Given the description of an element on the screen output the (x, y) to click on. 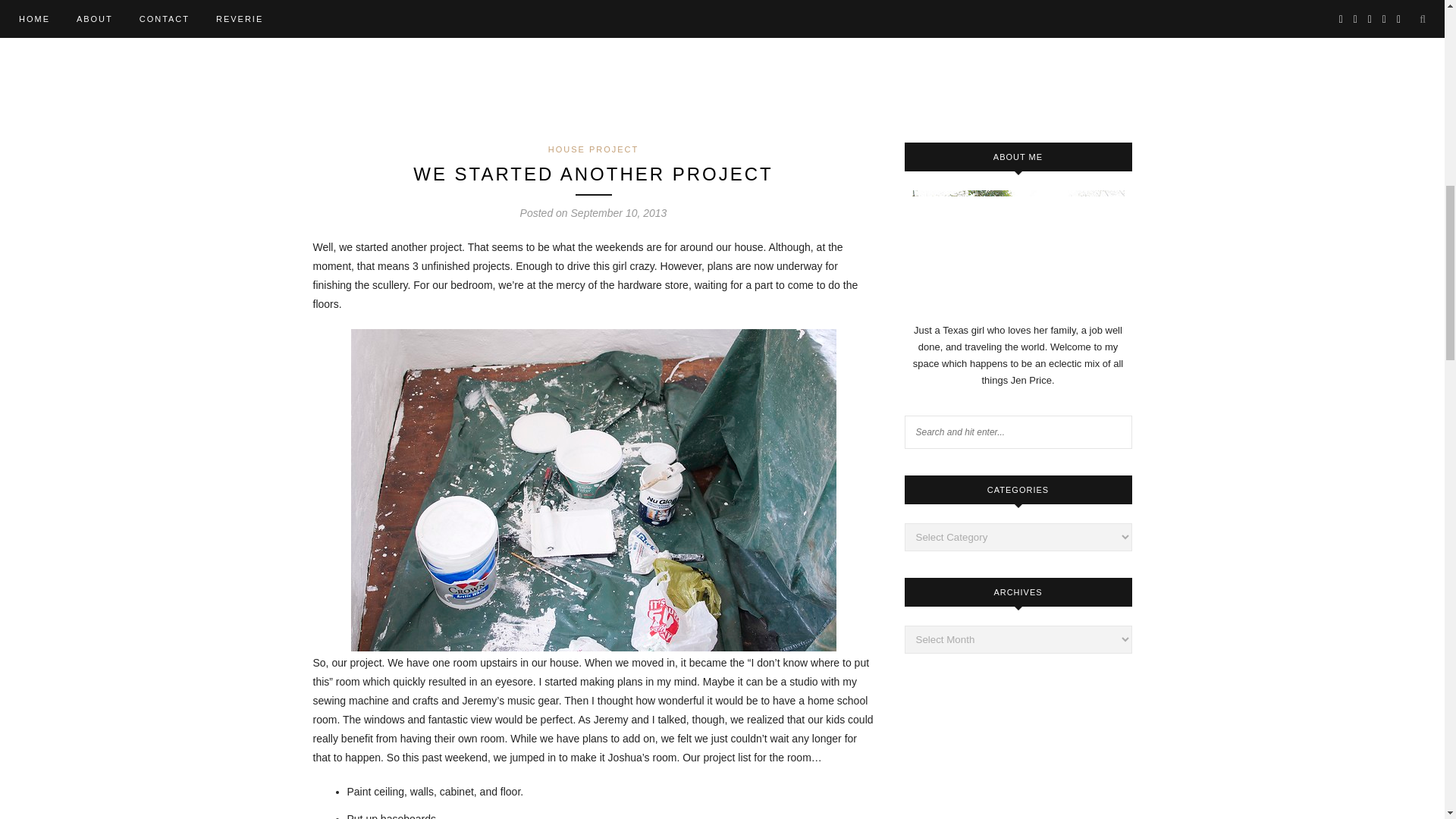
paint by i believe in love, on Flickr (592, 647)
HOUSE PROJECT (593, 148)
